Given the description of an element on the screen output the (x, y) to click on. 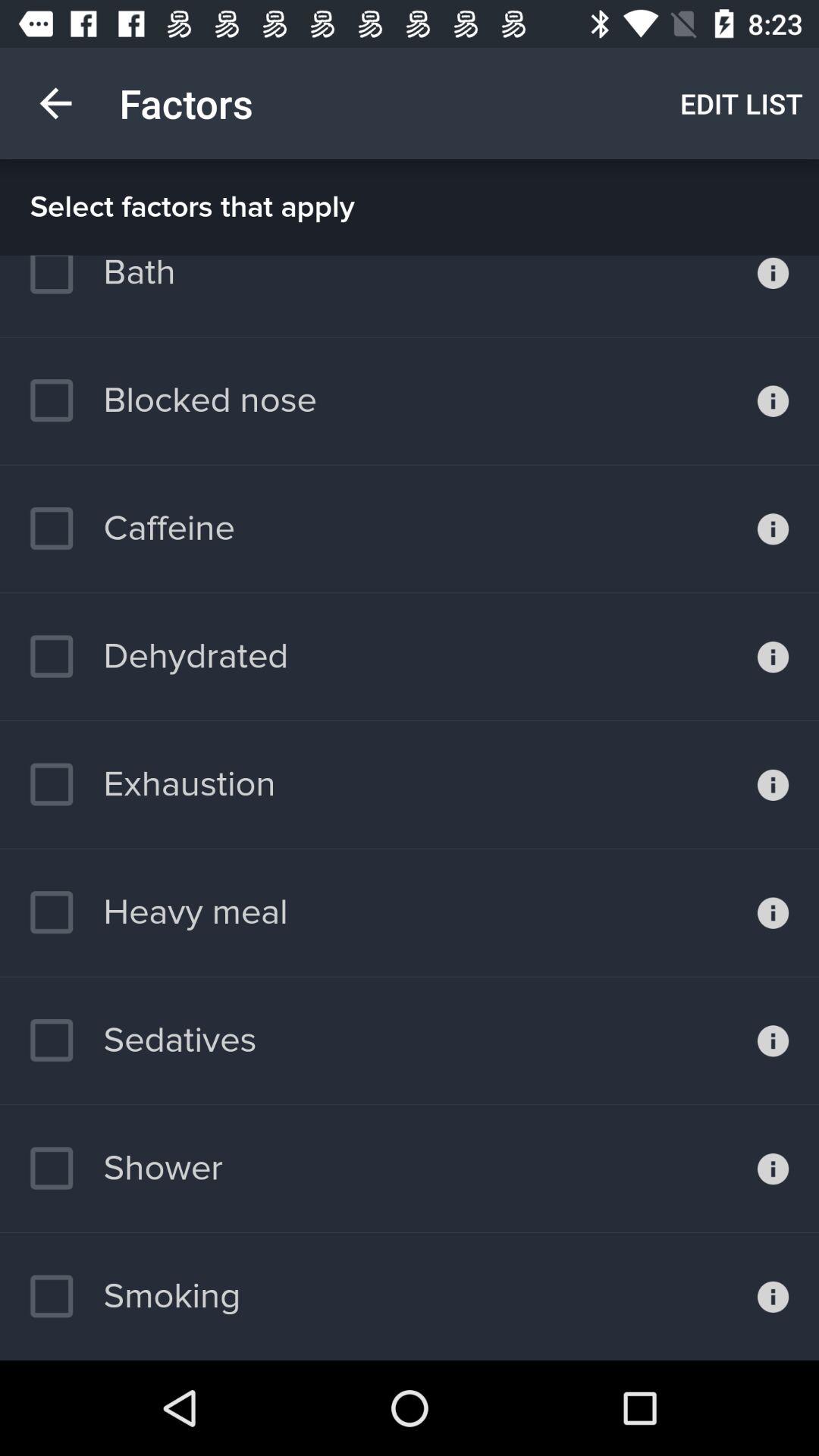
more info (773, 295)
